Given the description of an element on the screen output the (x, y) to click on. 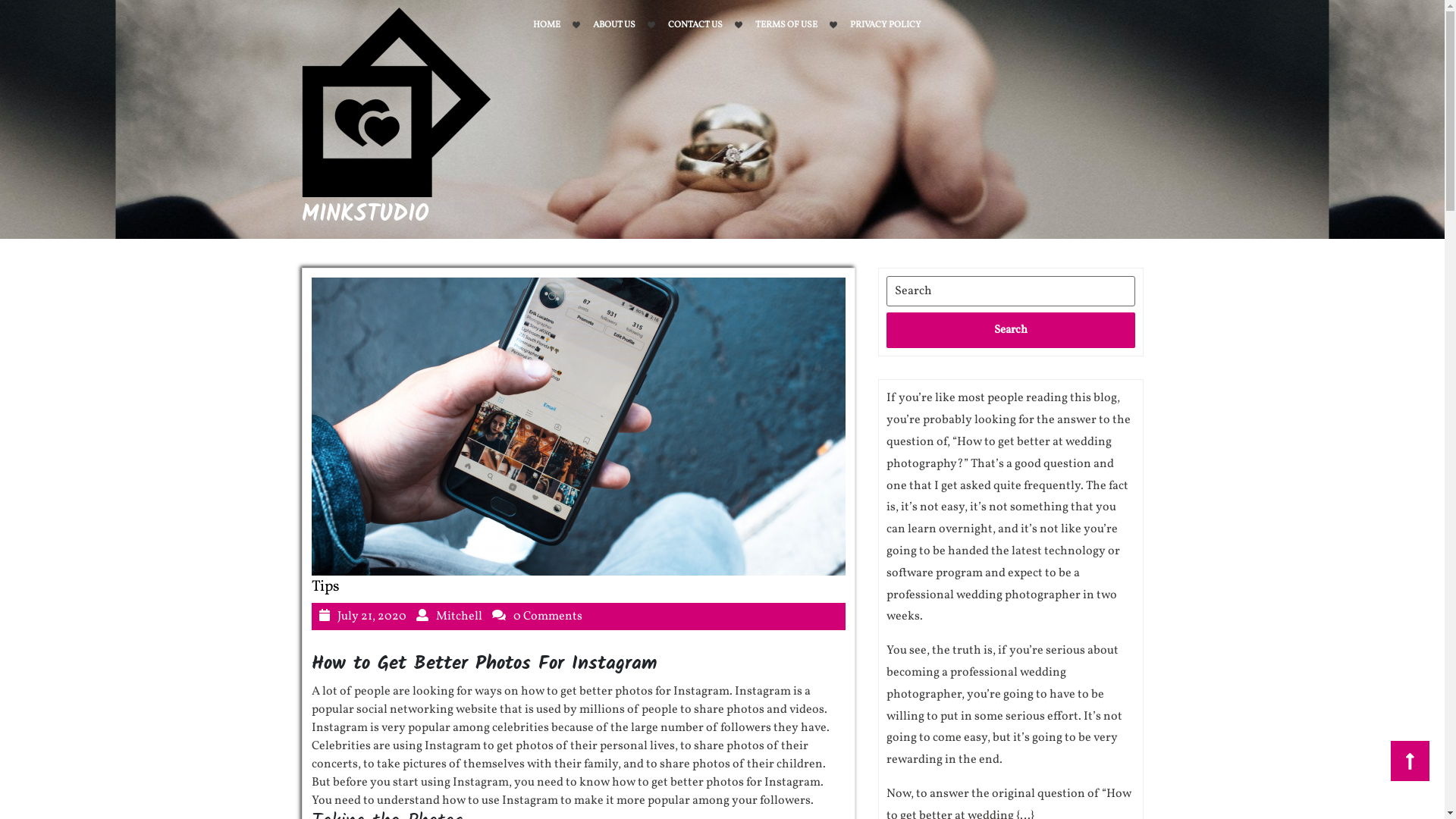
ABOUT US Element type: text (613, 25)
PRIVACY POLICY Element type: text (884, 25)
Mitchell
Mitchell Element type: text (458, 616)
TERMS OF USE Element type: text (786, 25)
CONTACT US Element type: text (694, 25)
MINKSTUDIO Element type: text (365, 214)
July 21, 2020
July 21, 2020 Element type: text (370, 616)
Tips Element type: text (324, 586)
Search Element type: text (1009, 330)
HOME Element type: text (545, 25)
